Given the description of an element on the screen output the (x, y) to click on. 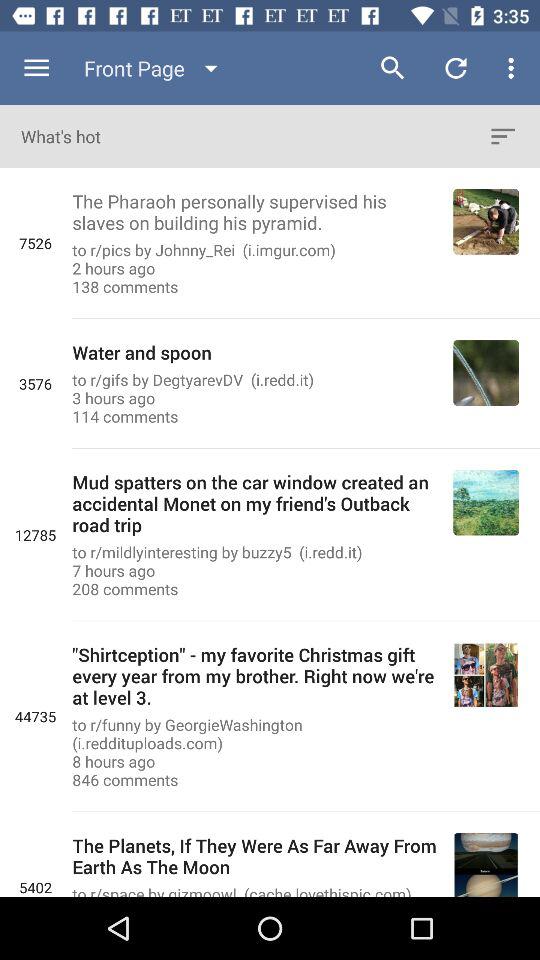
press icon above what's hot item (36, 68)
